Given the description of an element on the screen output the (x, y) to click on. 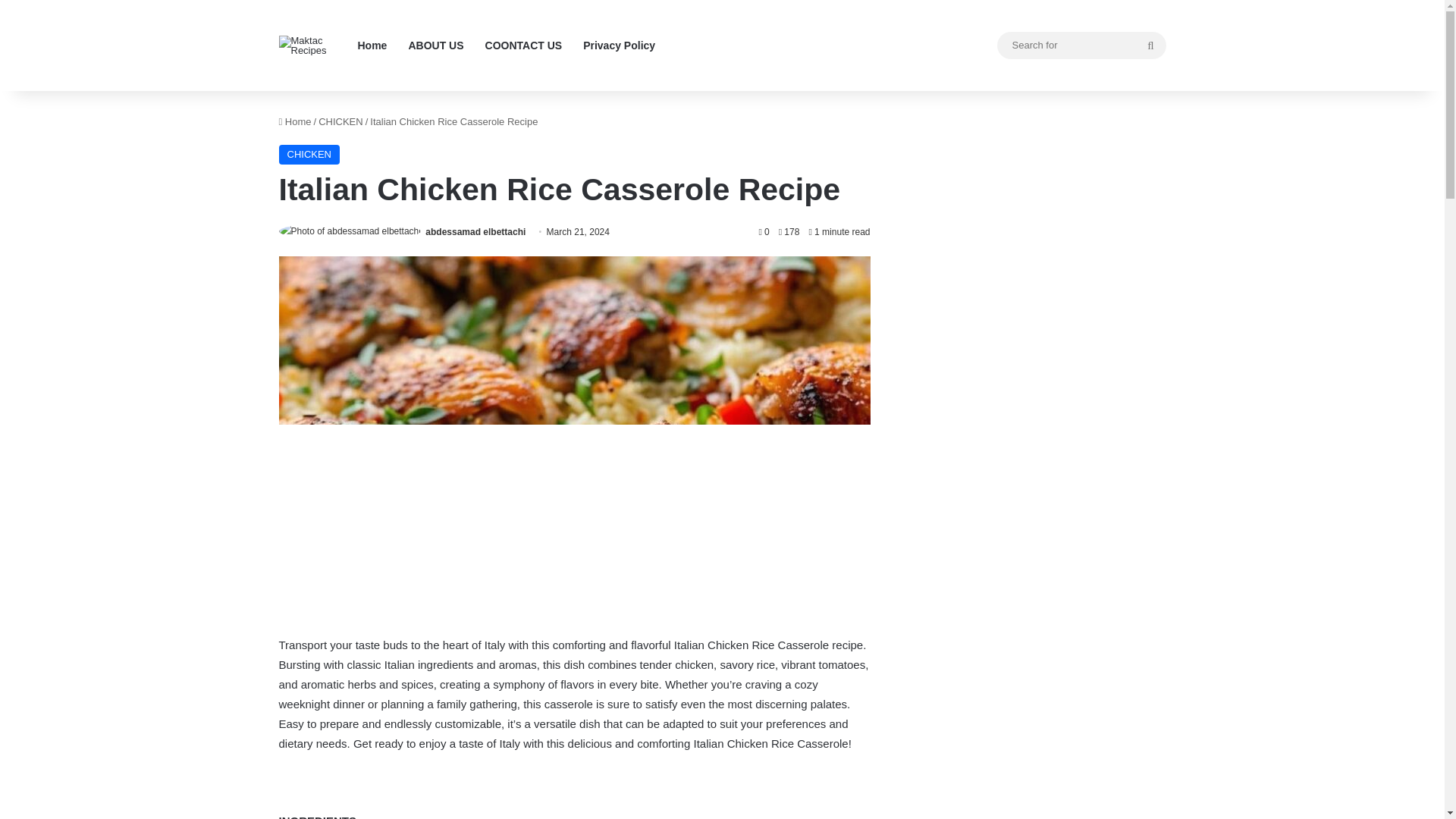
CHICKEN (340, 121)
Search for (1080, 45)
Privacy Policy (618, 45)
CHICKEN (309, 154)
Search for (1150, 44)
abdessamad elbettachi (475, 231)
COONTACT US (523, 45)
Home (295, 121)
abdessamad elbettachi (475, 231)
Maktac Recipes (313, 45)
